Given the description of an element on the screen output the (x, y) to click on. 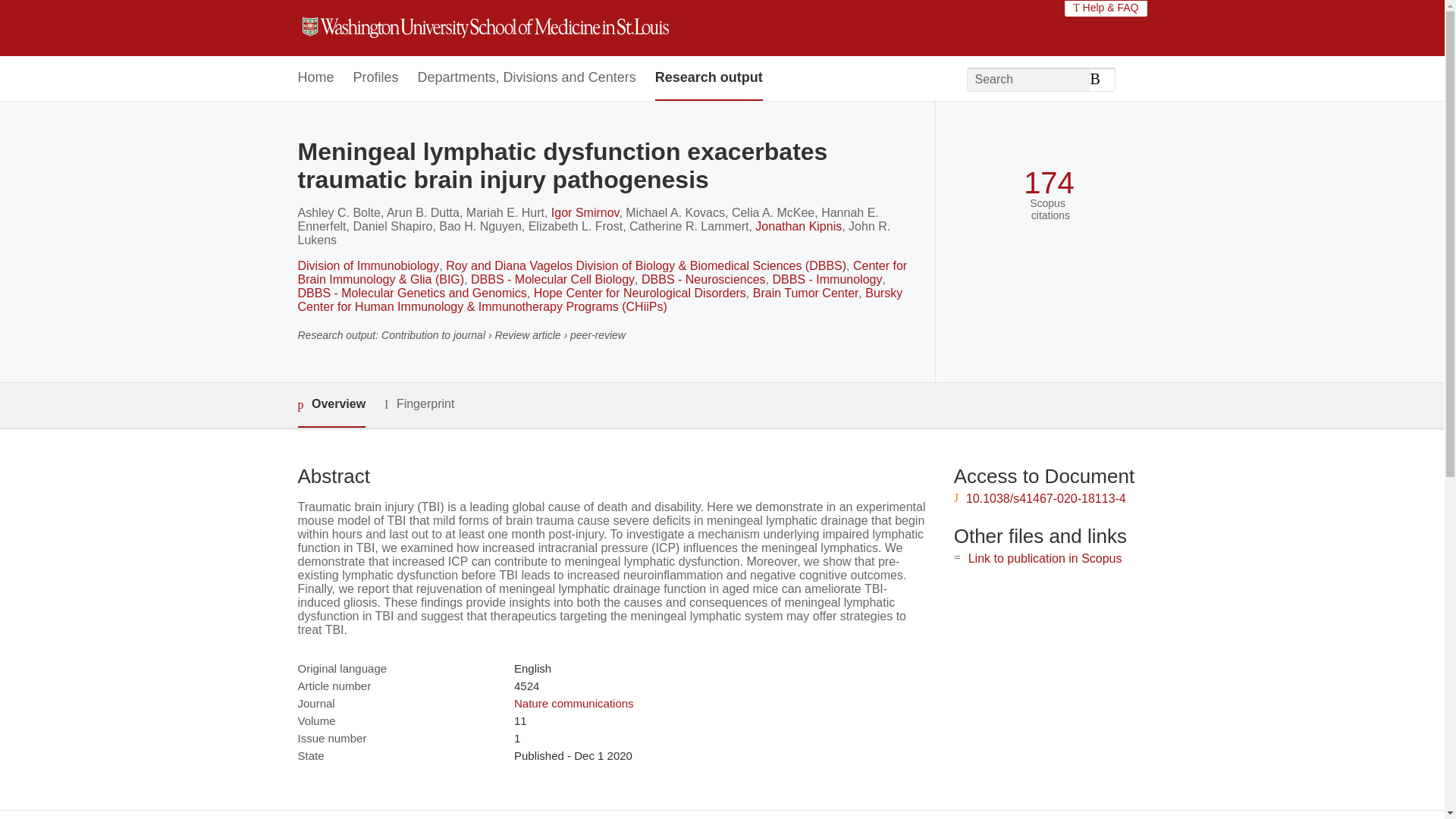
Hope Center for Neurological Disorders (639, 292)
Brain Tumor Center (805, 292)
DBBS - Molecular Genetics and Genomics (411, 292)
Nature communications (573, 703)
Research output (708, 78)
DBBS - Molecular Cell Biology (552, 278)
Jonathan Kipnis (798, 226)
Igor Smirnov (585, 212)
Departments, Divisions and Centers (526, 78)
Link to publication in Scopus (1045, 558)
Fingerprint (419, 404)
174 (1048, 182)
Overview (331, 405)
